Given the description of an element on the screen output the (x, y) to click on. 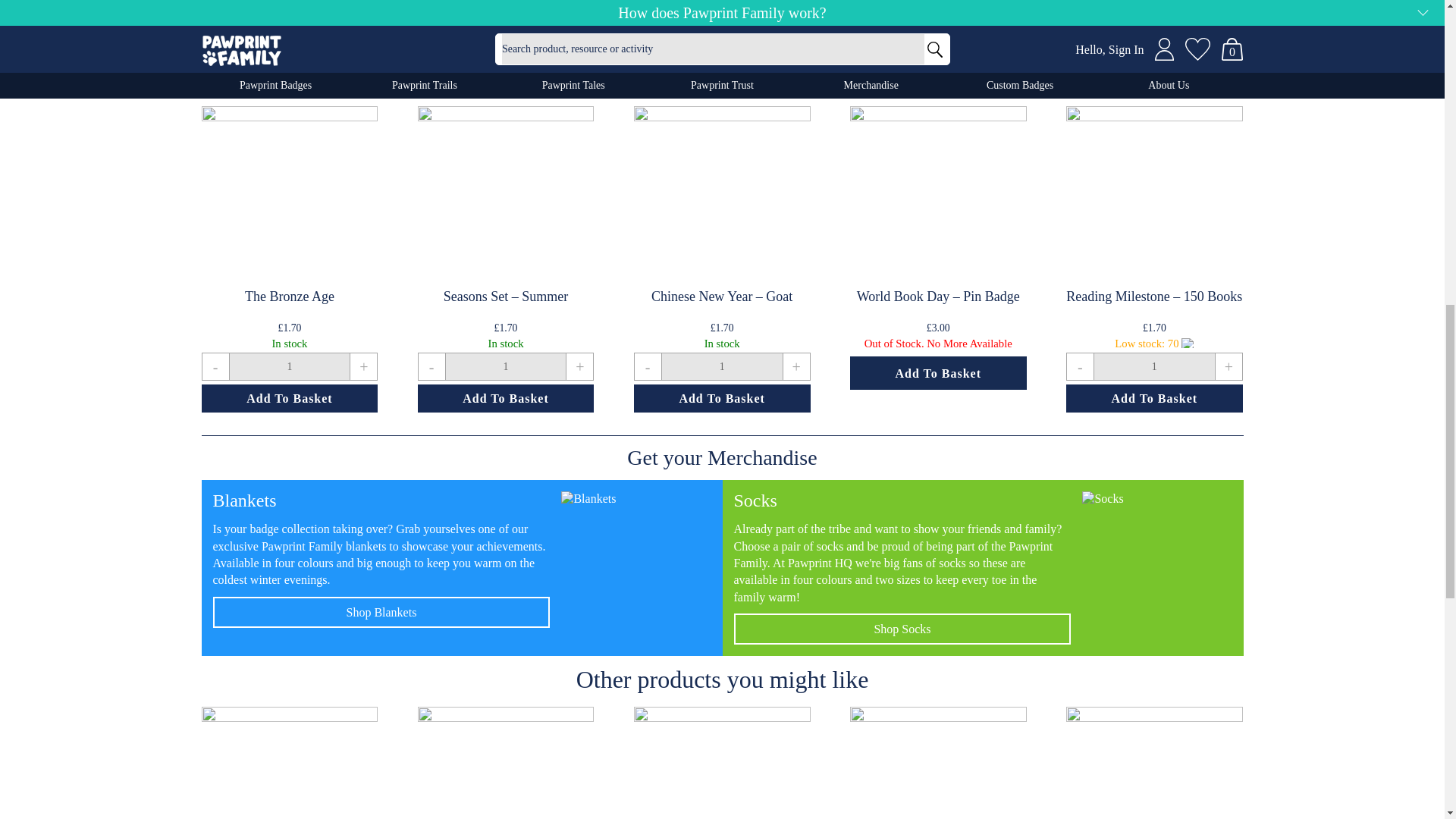
1 (722, 366)
Qty (505, 366)
1 (505, 366)
Qty (722, 366)
1 (1154, 366)
Qty (1154, 366)
Qty (288, 366)
1 (288, 366)
